Given the description of an element on the screen output the (x, y) to click on. 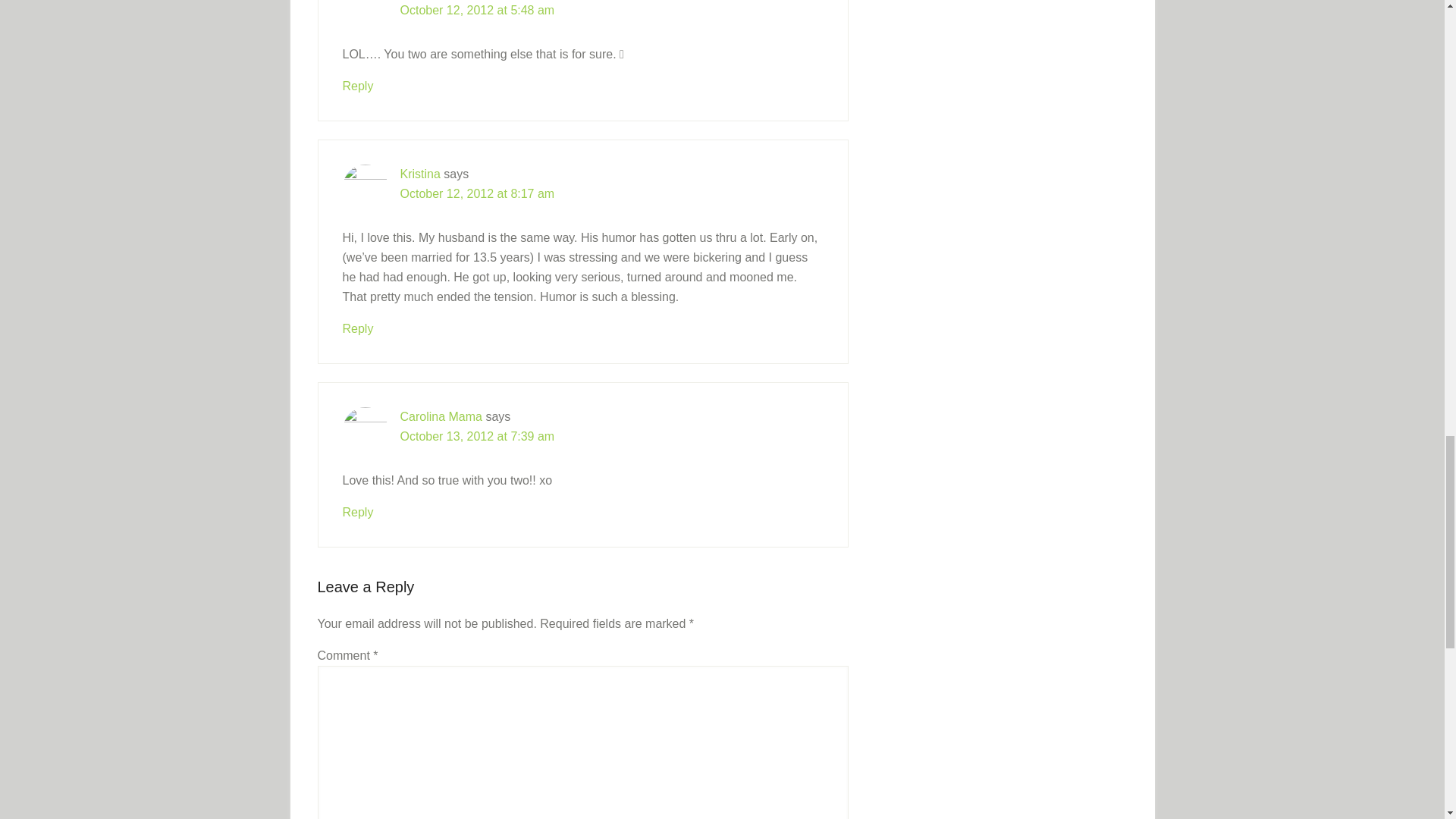
Reply (358, 84)
October 12, 2012 at 8:17 am (477, 192)
Reply (358, 327)
October 12, 2012 at 5:48 am (477, 9)
Carolina Mama (440, 415)
Reply (358, 511)
October 13, 2012 at 7:39 am (477, 435)
Kristina (420, 173)
